Given the description of an element on the screen output the (x, y) to click on. 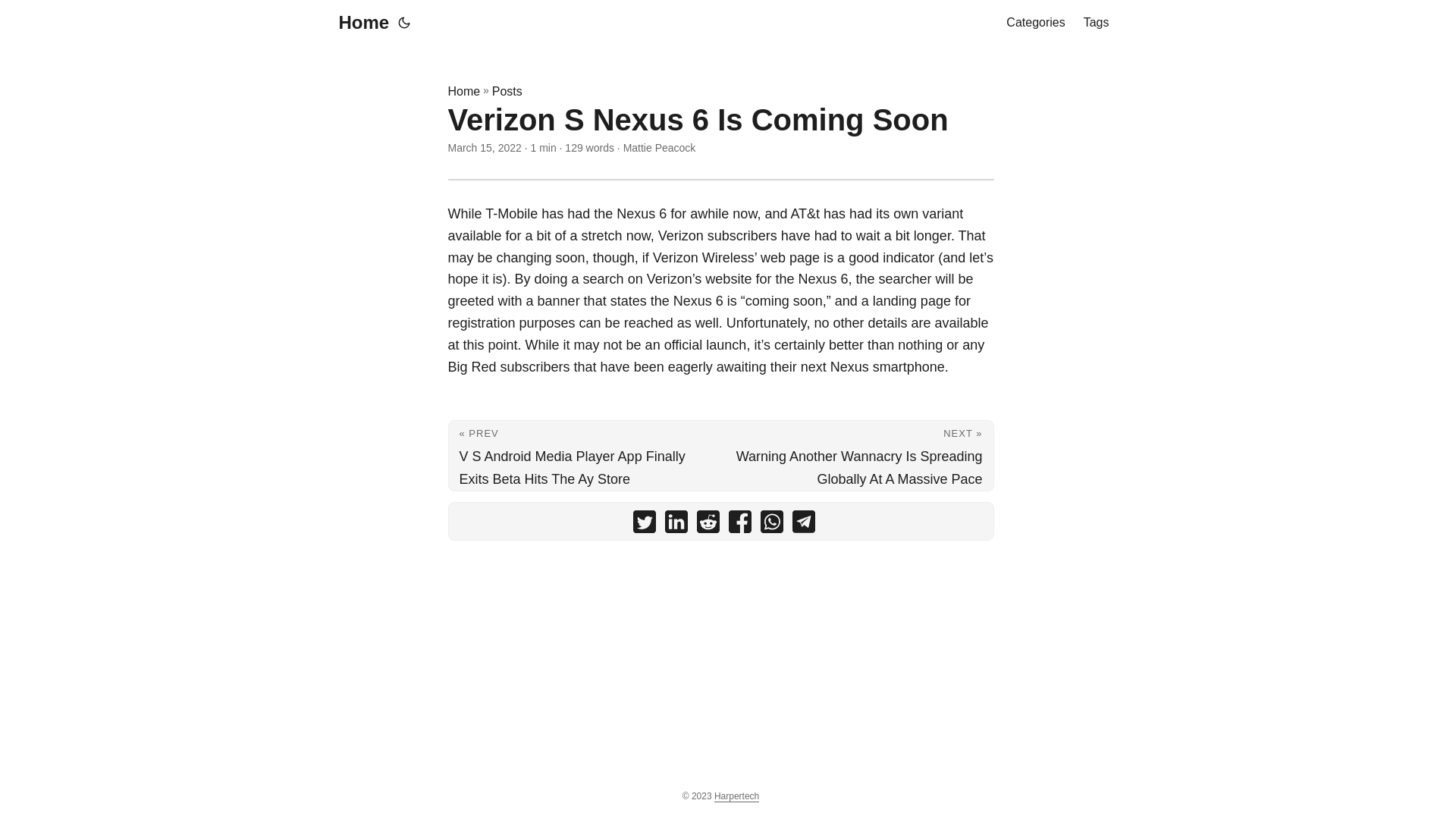
Harpertech (736, 796)
Posts (507, 91)
Categories (1035, 22)
Home (359, 22)
Home (463, 91)
Categories (1035, 22)
